Given the description of an element on the screen output the (x, y) to click on. 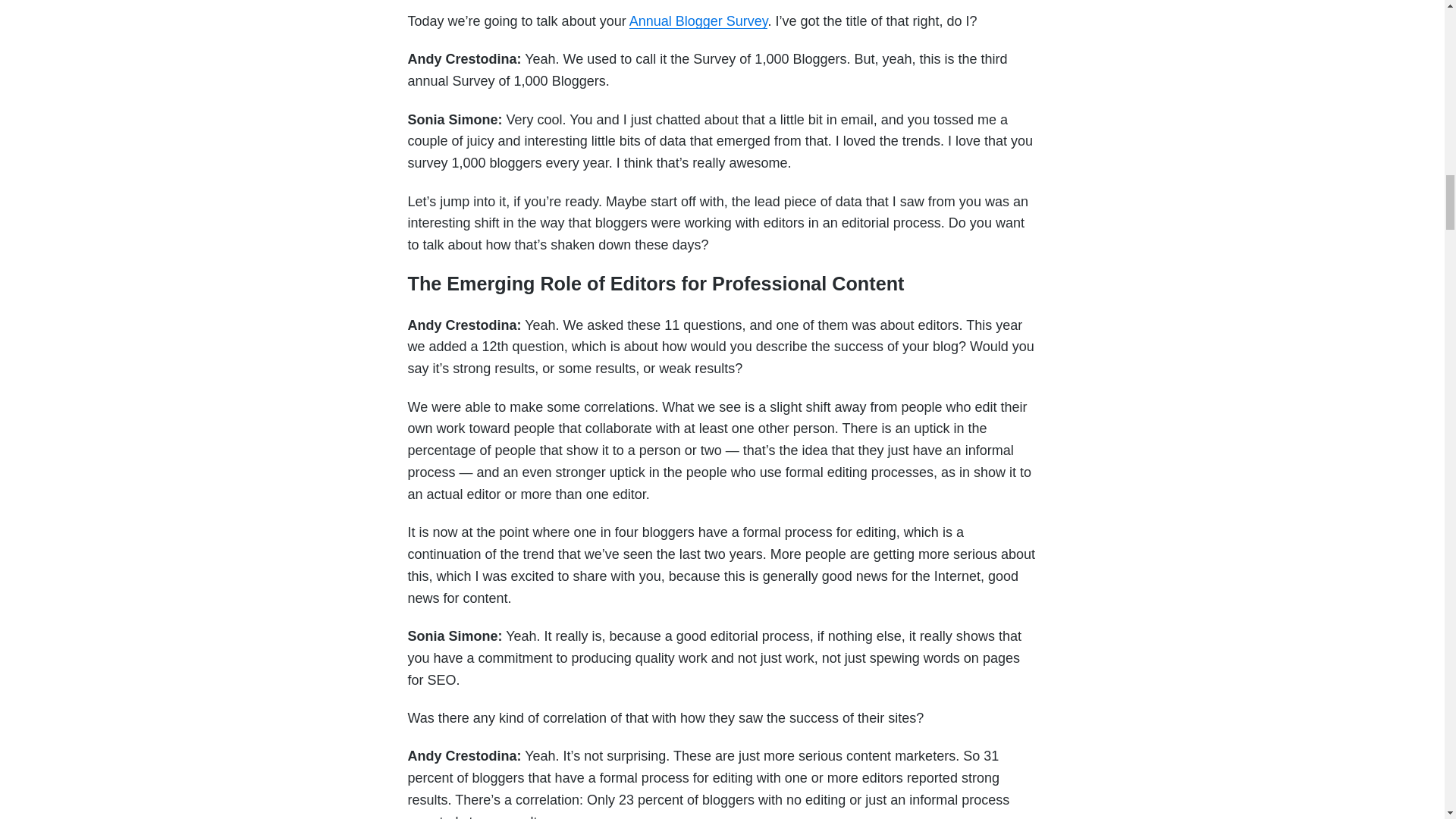
Annual Blogger Survey (698, 20)
